Given the description of an element on the screen output the (x, y) to click on. 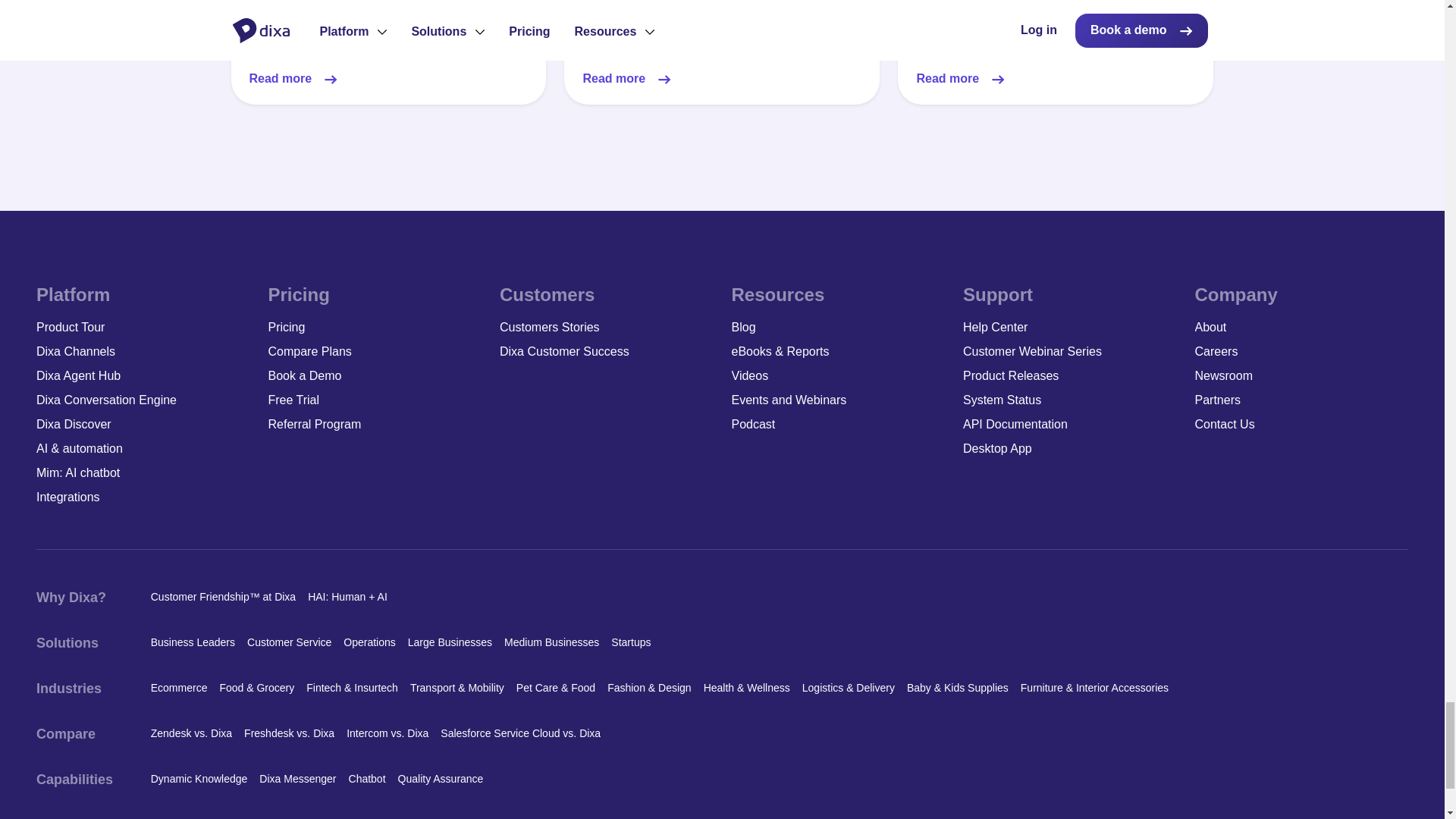
Events and Webinars (837, 400)
Free Trial (374, 400)
Mim: AI chatbot (143, 473)
Dixa Conversation Engine (143, 400)
Blog (837, 327)
Dixa Channels (143, 352)
Product Tour (143, 327)
Dixa Customer Success (606, 352)
Dixa Discover (143, 424)
Dixa Agent Hub (143, 375)
Customers Stories (606, 327)
Videos (837, 375)
Referral Program (374, 424)
Pricing (374, 327)
Book a Demo (374, 375)
